Given the description of an element on the screen output the (x, y) to click on. 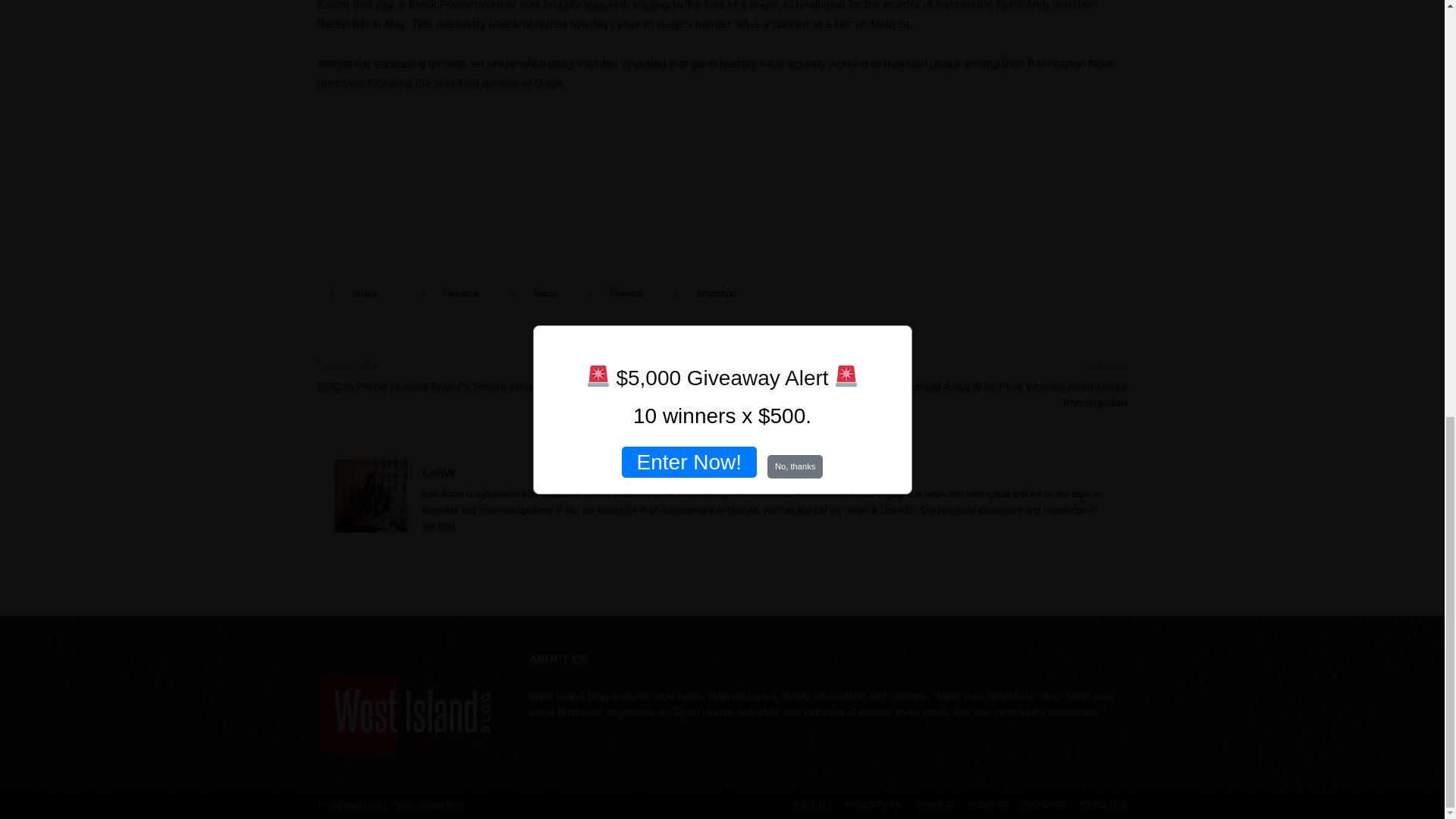
WhatsApp (705, 293)
Pinterest (615, 293)
Facebook (450, 293)
Twitter (533, 293)
Facebook (450, 293)
Pinterest (615, 293)
Twitter (533, 293)
